Given the description of an element on the screen output the (x, y) to click on. 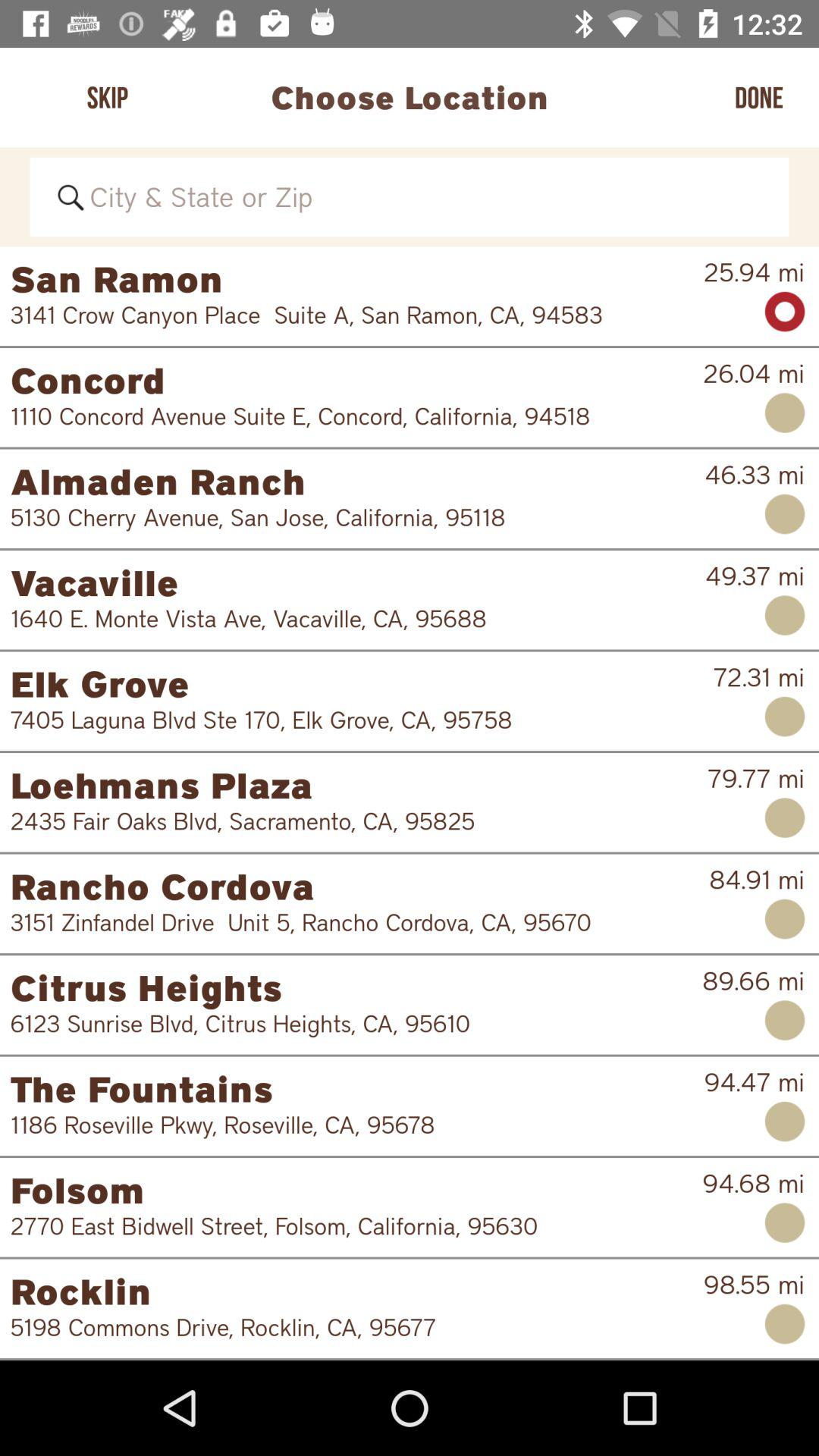
flip to 49.37 mi item (754, 575)
